Given the description of an element on the screen output the (x, y) to click on. 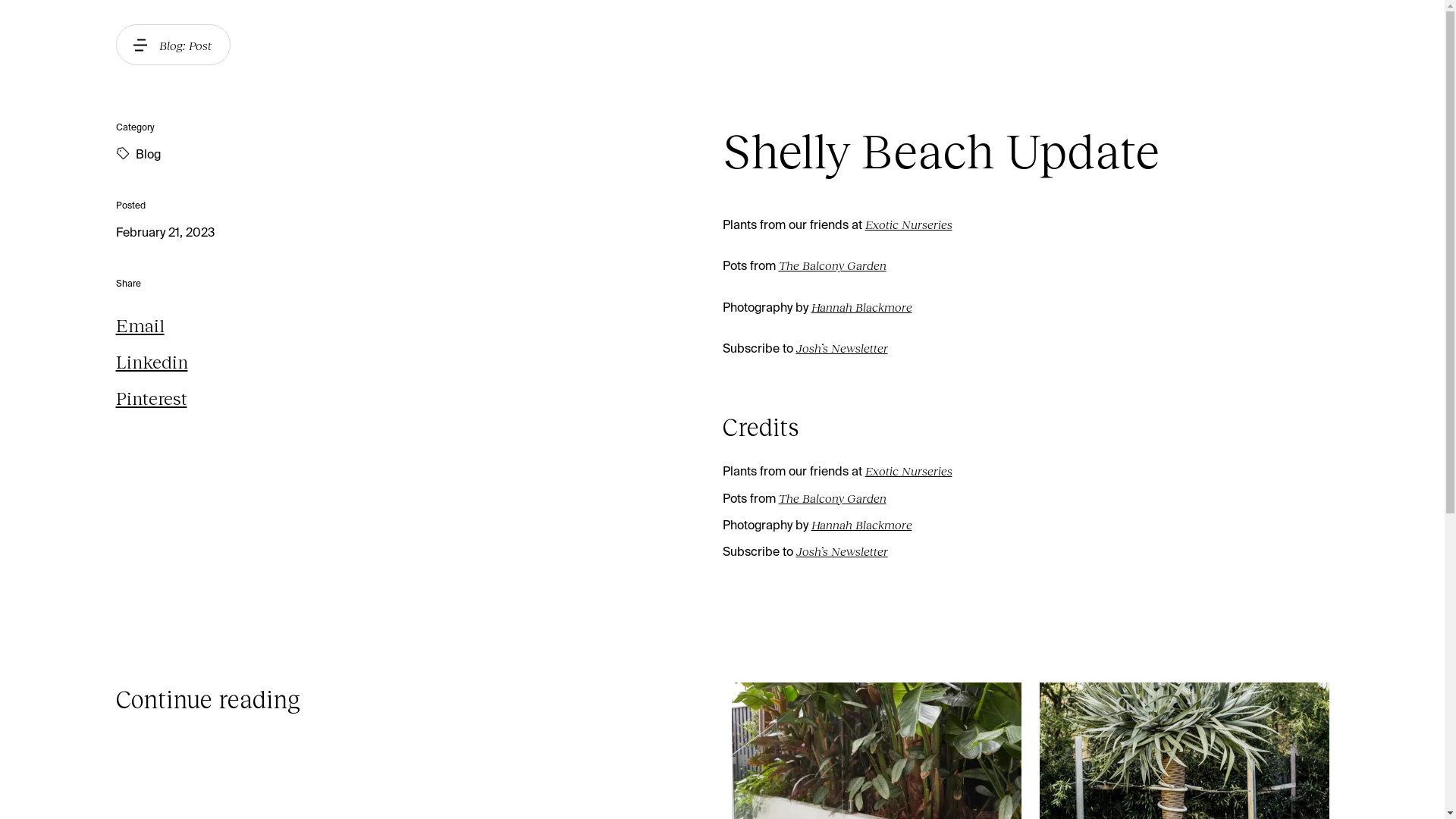
The Balcony Garden Element type: text (831, 497)
Linkedin Element type: text (418, 361)
Exotic Nurseries Element type: text (907, 224)
Email Element type: text (418, 324)
Hannah Blackmore Element type: text (861, 306)
Blog: Post Element type: text (172, 44)
Hannah Blackmore Element type: text (861, 524)
Pinterest Element type: text (418, 397)
Exotic Nurseries Element type: text (907, 470)
The Balcony Garden Element type: text (831, 265)
